Given the description of an element on the screen output the (x, y) to click on. 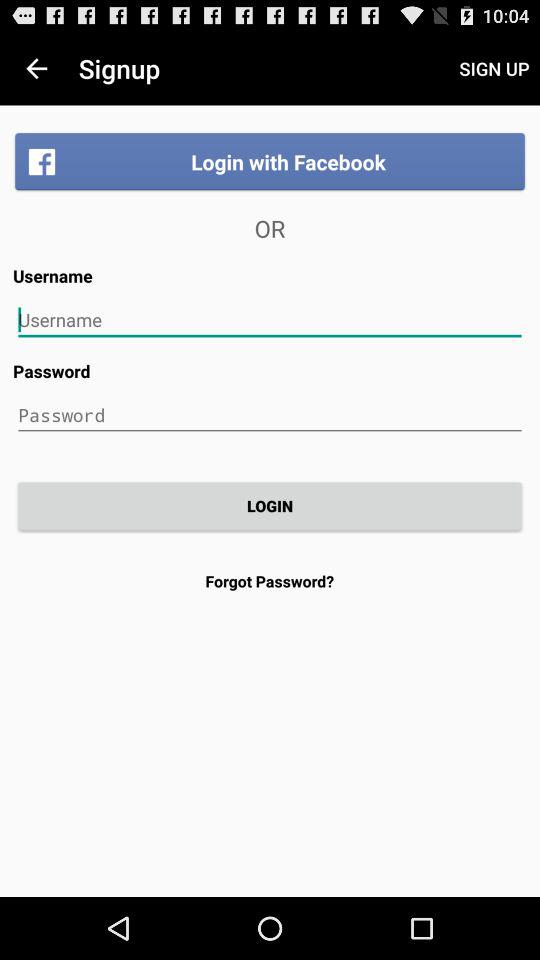
enter password to login (269, 415)
